Given the description of an element on the screen output the (x, y) to click on. 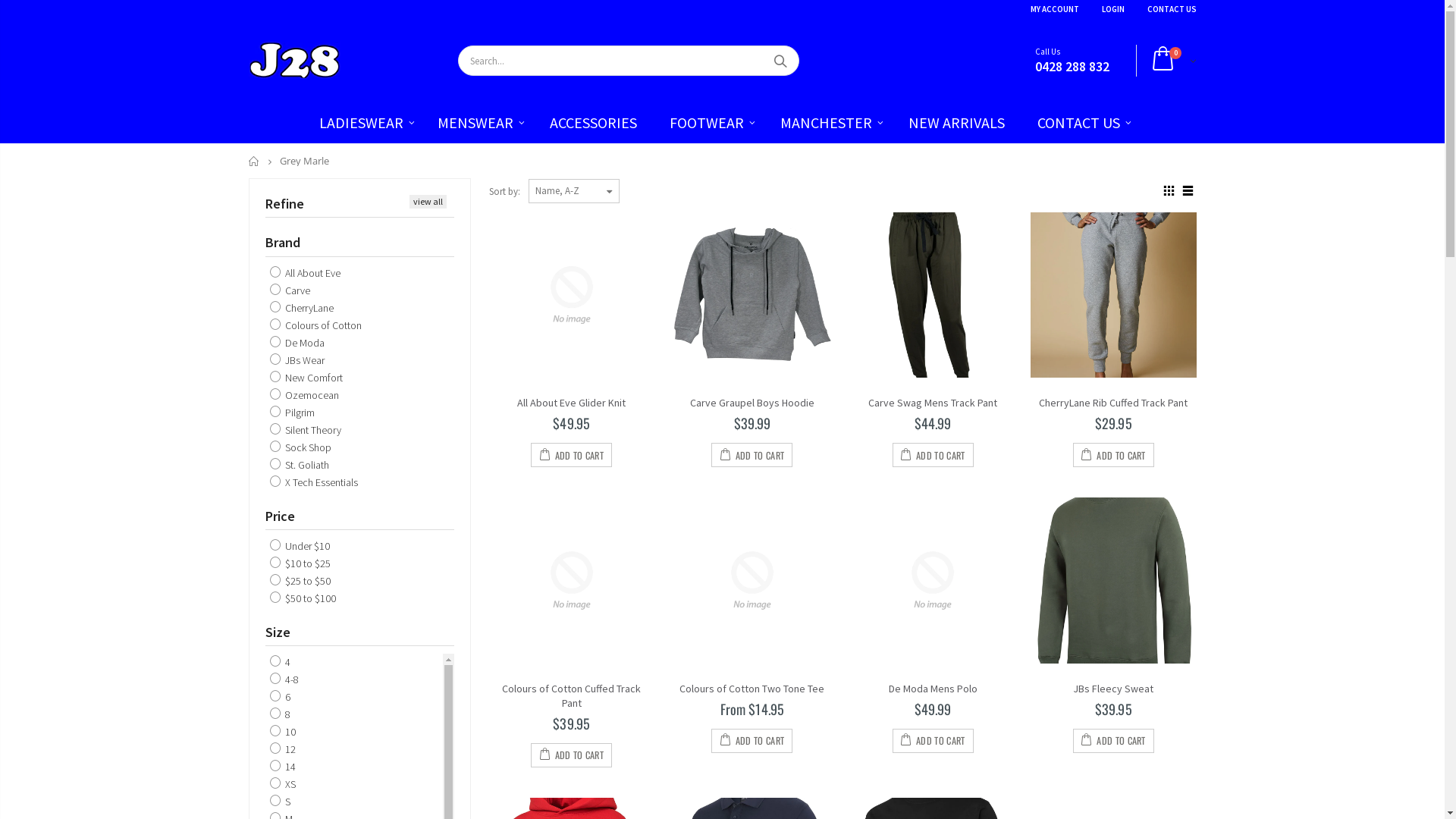
ADD TO CART Element type: text (932, 454)
Colours of Cotton Element type: text (315, 324)
CONTACT US Element type: text (1080, 122)
view all Element type: text (427, 201)
Search Element type: text (779, 60)
10 Element type: text (282, 731)
Ozemocean Element type: text (303, 394)
14 Element type: text (282, 766)
ADD TO CART Element type: text (1113, 740)
Carve Element type: text (289, 290)
Silent Theory Element type: text (305, 429)
NEW ARRIVALS Element type: text (956, 122)
ADD TO CART Element type: text (570, 454)
Carve Swag Mens Track Pant Element type: text (932, 402)
4 Element type: text (279, 661)
XS Element type: text (282, 783)
ADD TO CART Element type: text (932, 740)
ACCESSORIES Element type: text (592, 122)
Pilgrim Element type: text (291, 412)
Home Element type: text (254, 161)
De Moda Element type: text (296, 342)
CherryLane Element type: text (301, 307)
LOGIN Element type: text (1112, 9)
S Element type: text (279, 801)
ADD TO CART Element type: text (570, 755)
$50 to $100 Element type: text (302, 597)
4-8 Element type: text (283, 679)
$10 to $25 Element type: text (299, 563)
MY ACCOUNT Element type: text (1053, 9)
MENSWEAR Element type: text (476, 122)
All About Eve Element type: text (304, 272)
List view Element type: hover (1187, 190)
ADD TO CART Element type: text (1113, 454)
X Tech Essentials Element type: text (313, 481)
All About Eve Glider Knit Element type: text (571, 402)
0 Element type: text (1169, 60)
JBs Wear Element type: text (296, 359)
JBs Fleecy Sweat Element type: text (1113, 688)
CherryLane Rib Cuffed Track Pant Element type: text (1112, 402)
St. Goliath Element type: text (299, 464)
LADIESWEAR Element type: text (362, 122)
Colours of Cotton Cuffed Track Pant Element type: text (571, 695)
MANCHESTER Element type: text (827, 122)
ADD TO CART Element type: text (751, 740)
De Moda Mens Polo Element type: text (932, 688)
Carve Graupel Boys Hoodie Element type: text (752, 402)
ADD TO CART Element type: text (751, 454)
6 Element type: text (279, 696)
Under $10 Element type: text (299, 545)
FOOTWEAR Element type: text (707, 122)
$25 to $50 Element type: text (299, 580)
12 Element type: text (282, 748)
CONTACT US Element type: text (1170, 9)
Sock Shop Element type: text (300, 447)
Colours of Cotton Two Tone Tee Element type: text (751, 688)
8 Element type: text (279, 714)
Grid view Element type: hover (1168, 190)
New Comfort Element type: text (305, 377)
